Given the description of an element on the screen output the (x, y) to click on. 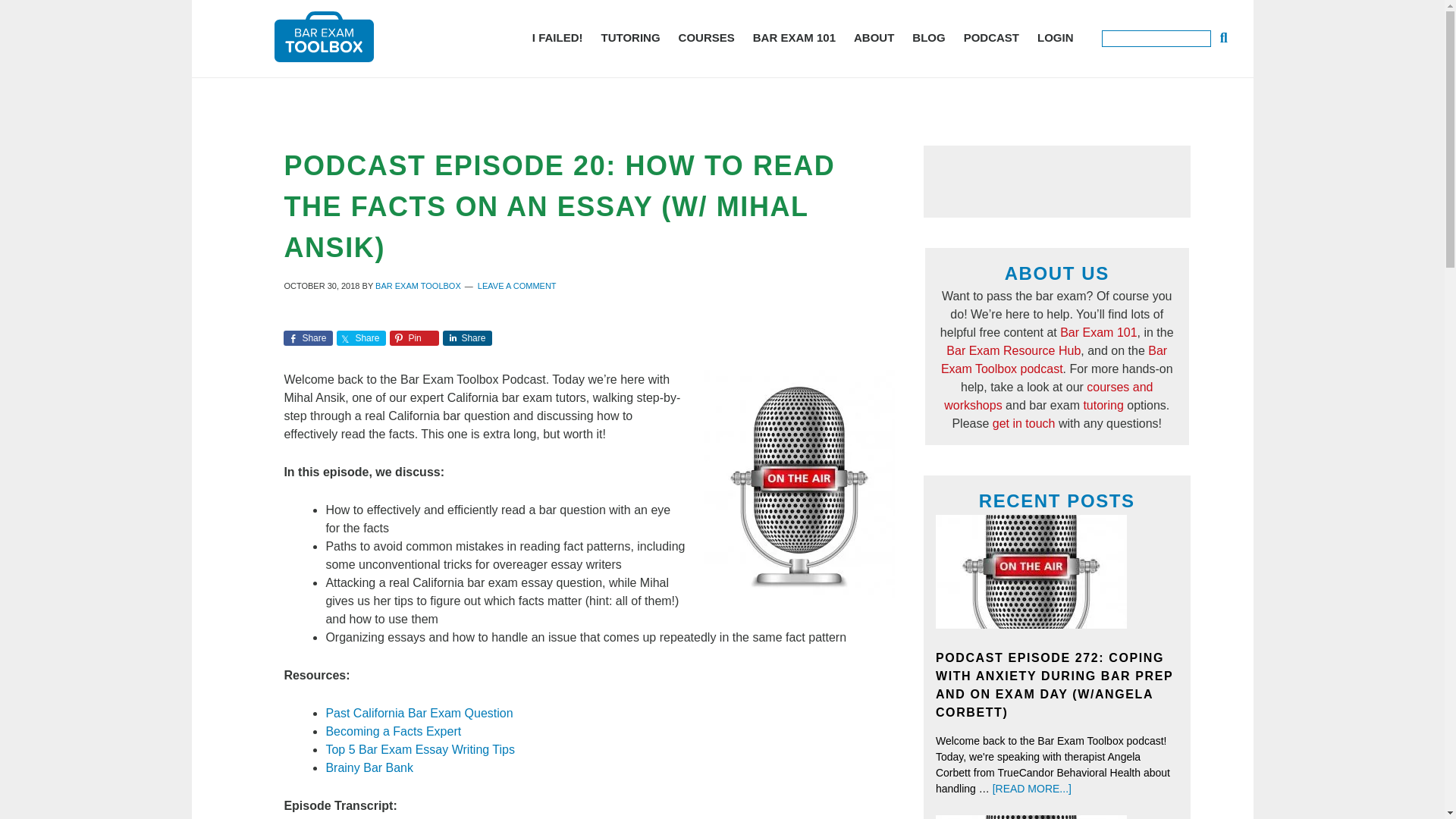
BAR EXAM 101 (794, 37)
BAR EXAM TOOLBOX (418, 285)
ABOUT (873, 37)
COURSES (706, 37)
LOGIN (1055, 37)
Share (467, 337)
Pin (414, 337)
Becoming a Facts Expert (392, 730)
PODCAST (991, 37)
I FAILED! (557, 37)
LEAVE A COMMENT (516, 285)
Brainy Bar Bank (368, 767)
BLOG (927, 37)
Past California Bar Exam Question (418, 712)
